Given the description of an element on the screen output the (x, y) to click on. 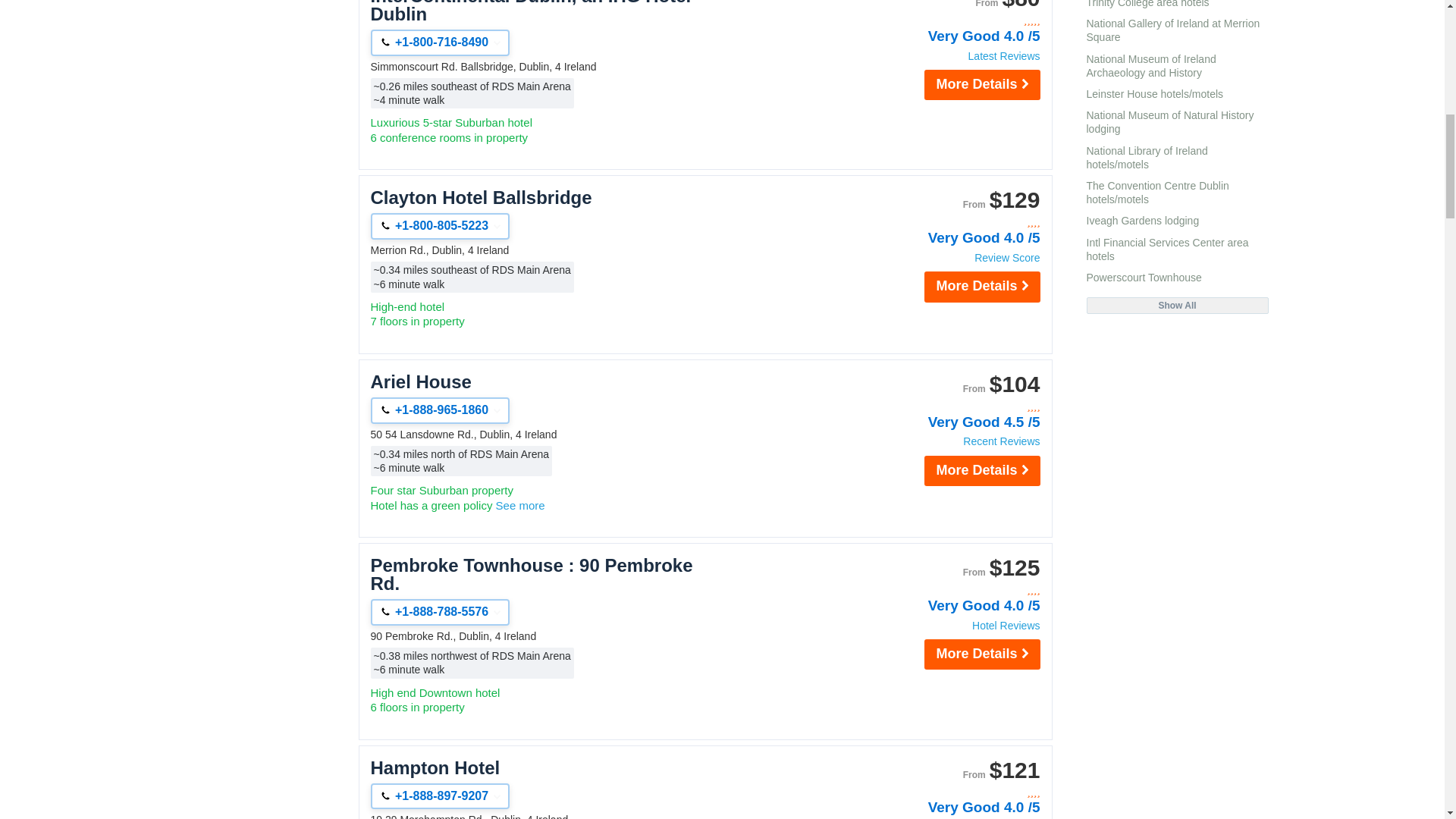
4 stars (958, 792)
5 stars (958, 20)
4 stars (958, 222)
4 stars (958, 406)
4 stars (958, 590)
